Given the description of an element on the screen output the (x, y) to click on. 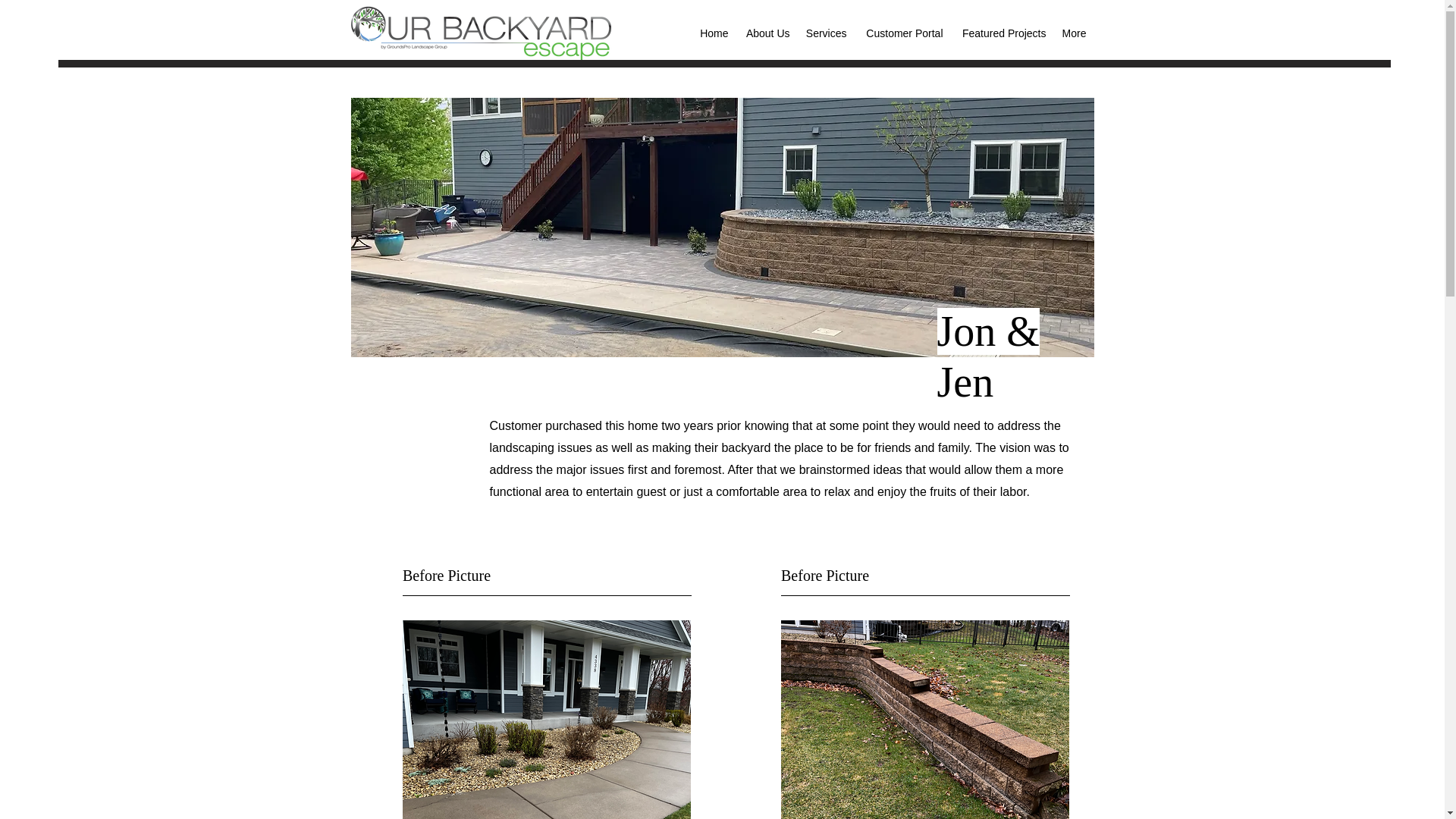
Featured Projects (1002, 33)
Customer Portal (901, 33)
About Us (765, 33)
Services (825, 33)
Home (713, 33)
